Given the description of an element on the screen output the (x, y) to click on. 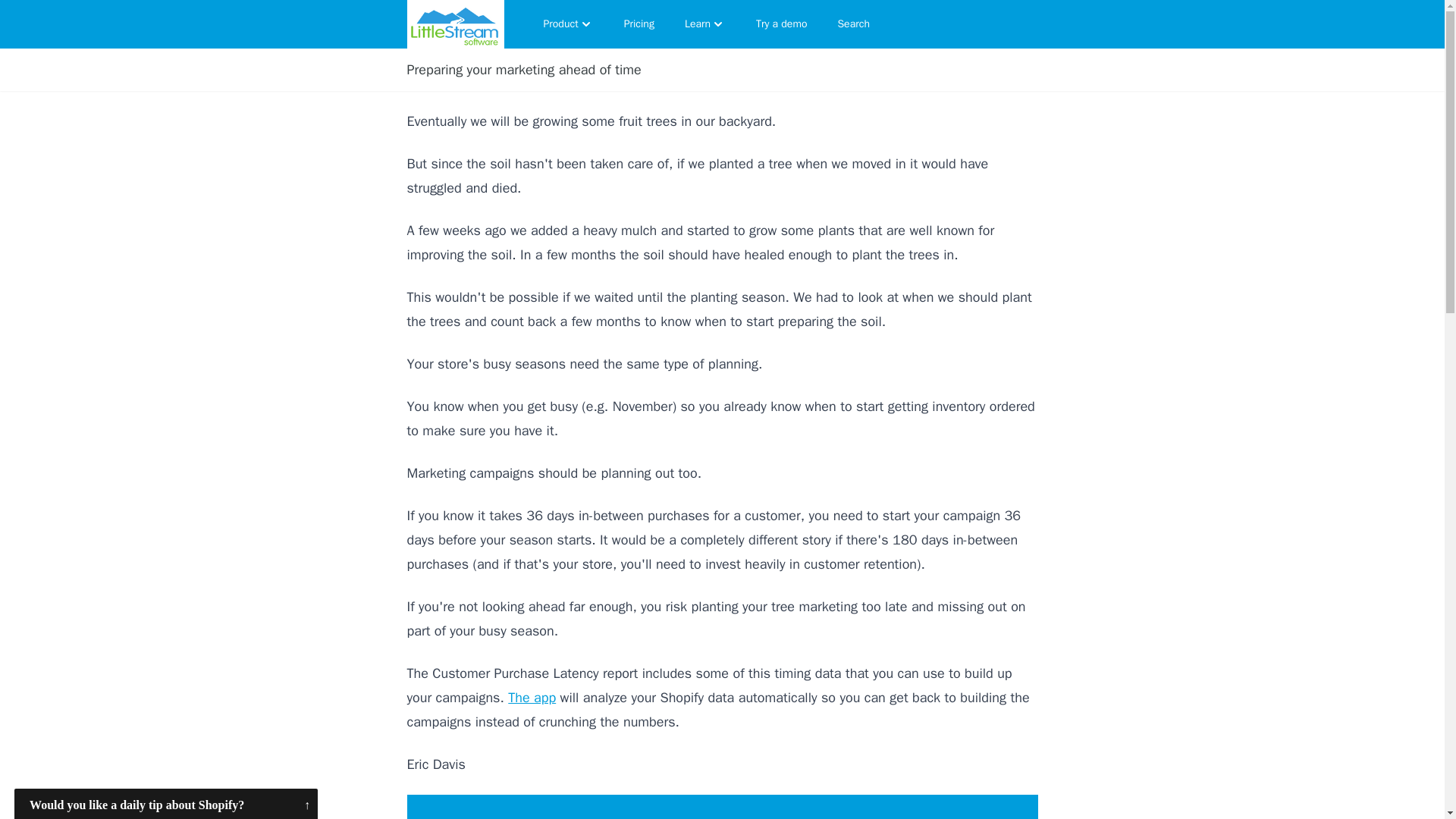
Product (568, 23)
Try a demo (780, 23)
Home (454, 24)
Search (853, 23)
Pricing (638, 23)
The app (532, 697)
Learn (705, 23)
